Given the description of an element on the screen output the (x, y) to click on. 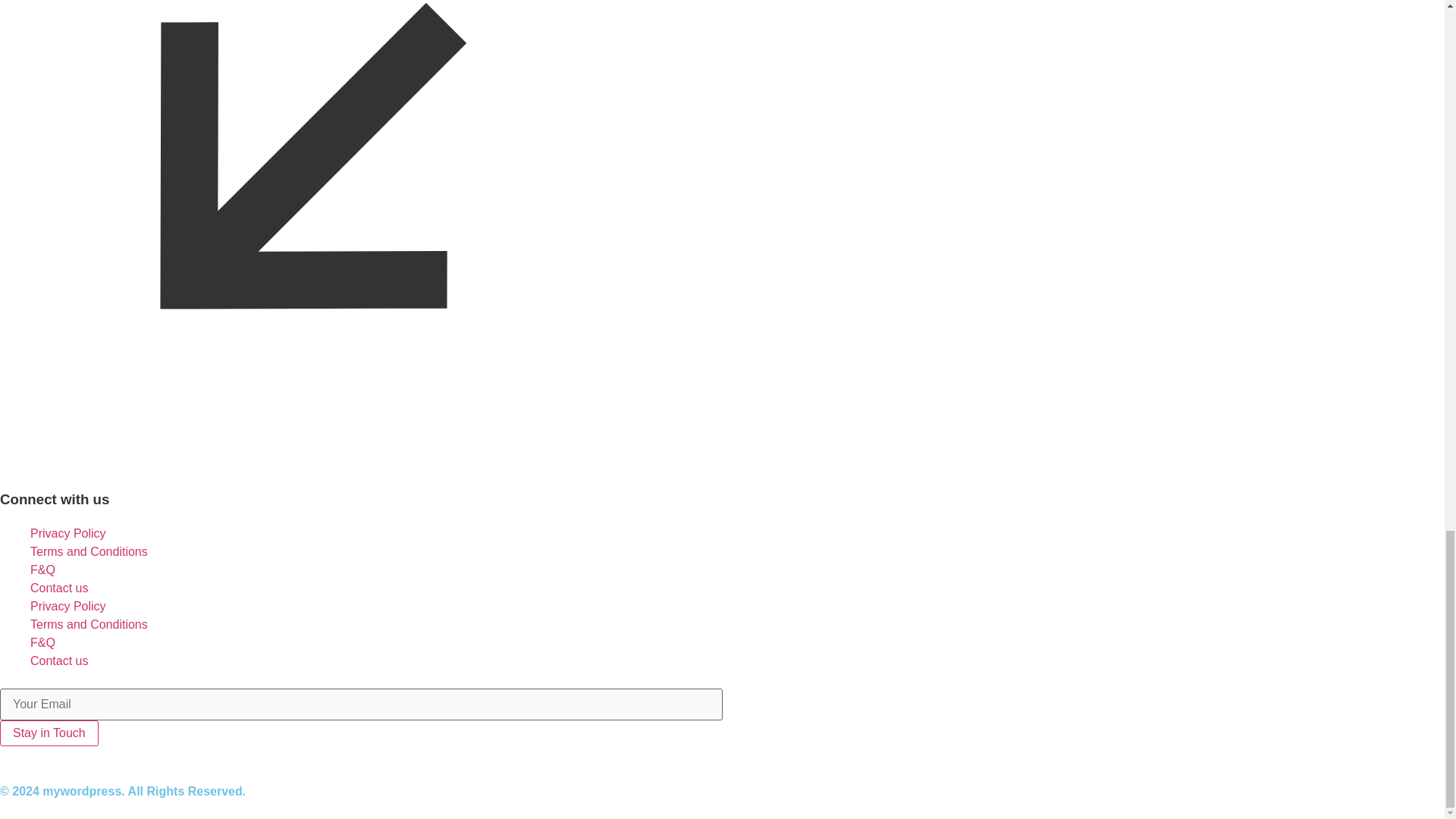
Contact us (58, 660)
Privacy Policy (68, 533)
Stay in Touch (49, 733)
Terms and Conditions (89, 624)
Privacy Policy (68, 605)
Contact us (58, 587)
Terms and Conditions (89, 551)
